Given the description of an element on the screen output the (x, y) to click on. 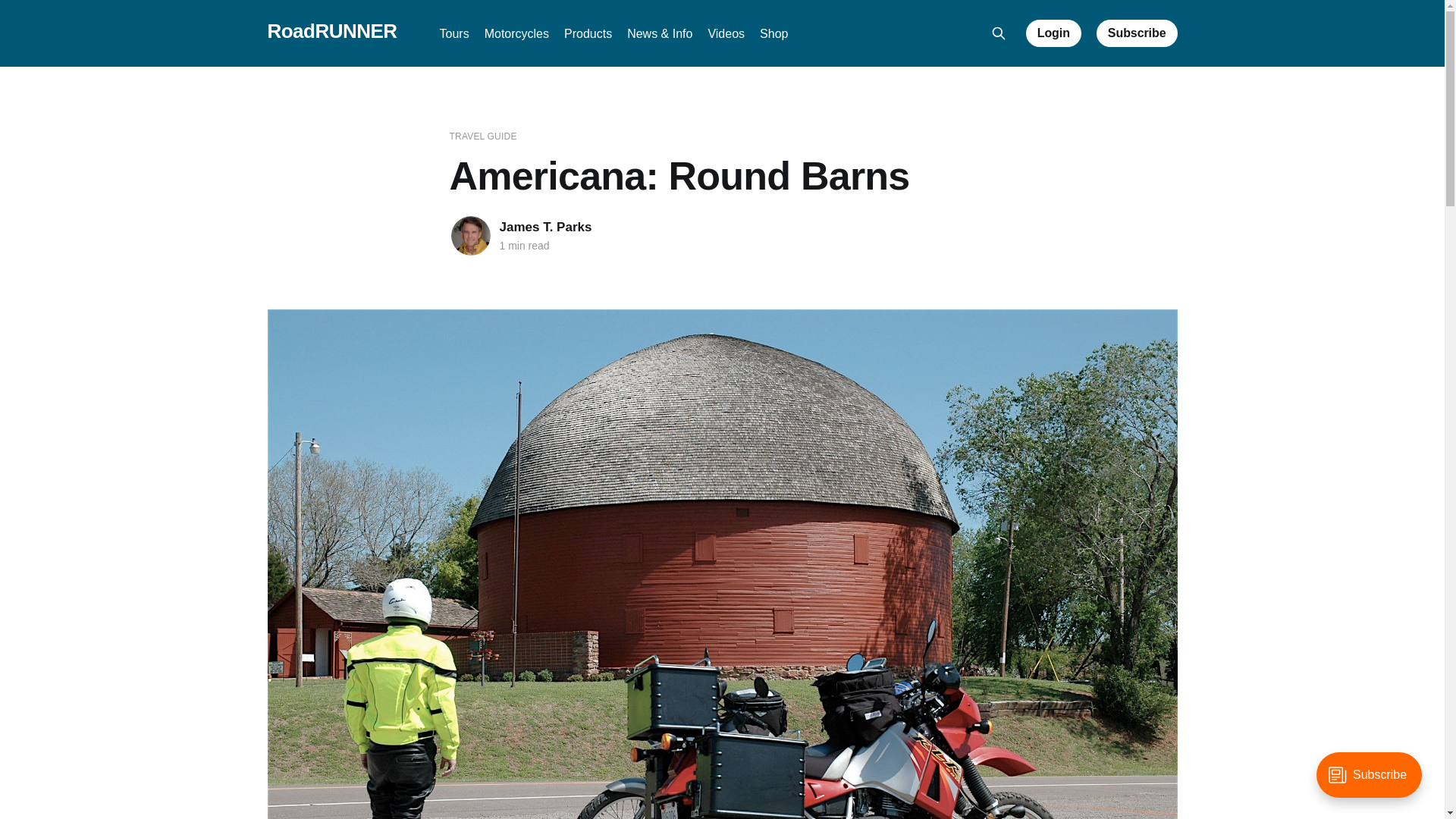
Login (1053, 33)
Products (587, 33)
Videos (725, 33)
Tours (453, 33)
James T. Parks (545, 227)
TRAVEL GUIDE (482, 136)
RoadRUNNER (331, 31)
Motorcycles (516, 33)
Subscribe (1136, 33)
Shop (773, 33)
